Given the description of an element on the screen output the (x, y) to click on. 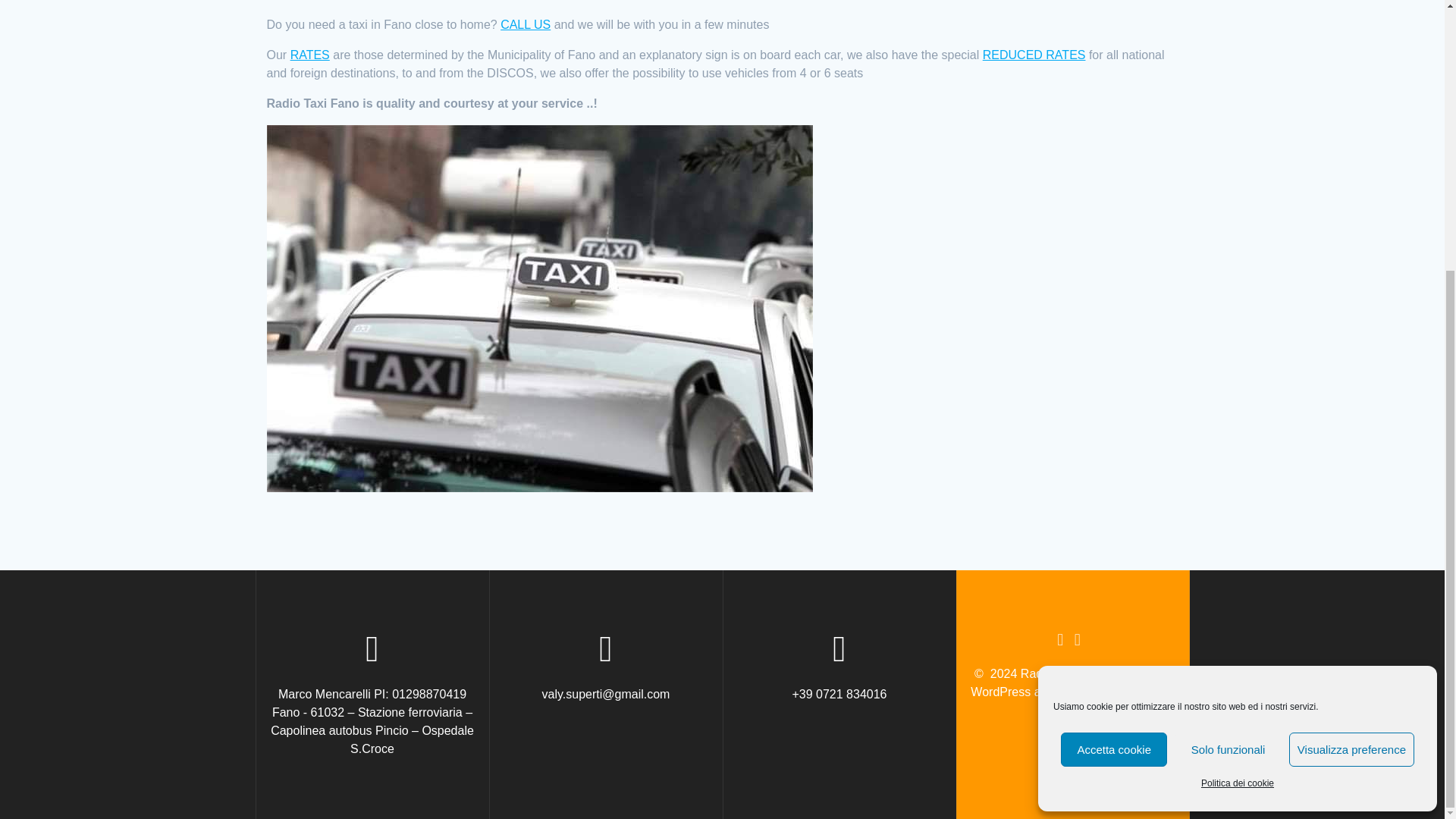
Visualizza preference (1350, 353)
Accetta cookie (1114, 353)
Mesmerize theme (1125, 691)
Solo funzionali (1227, 353)
Politica dei cookie (1237, 387)
RATES (309, 54)
REDUCED RATES (1034, 54)
CALL US (525, 24)
